Given the description of an element on the screen output the (x, y) to click on. 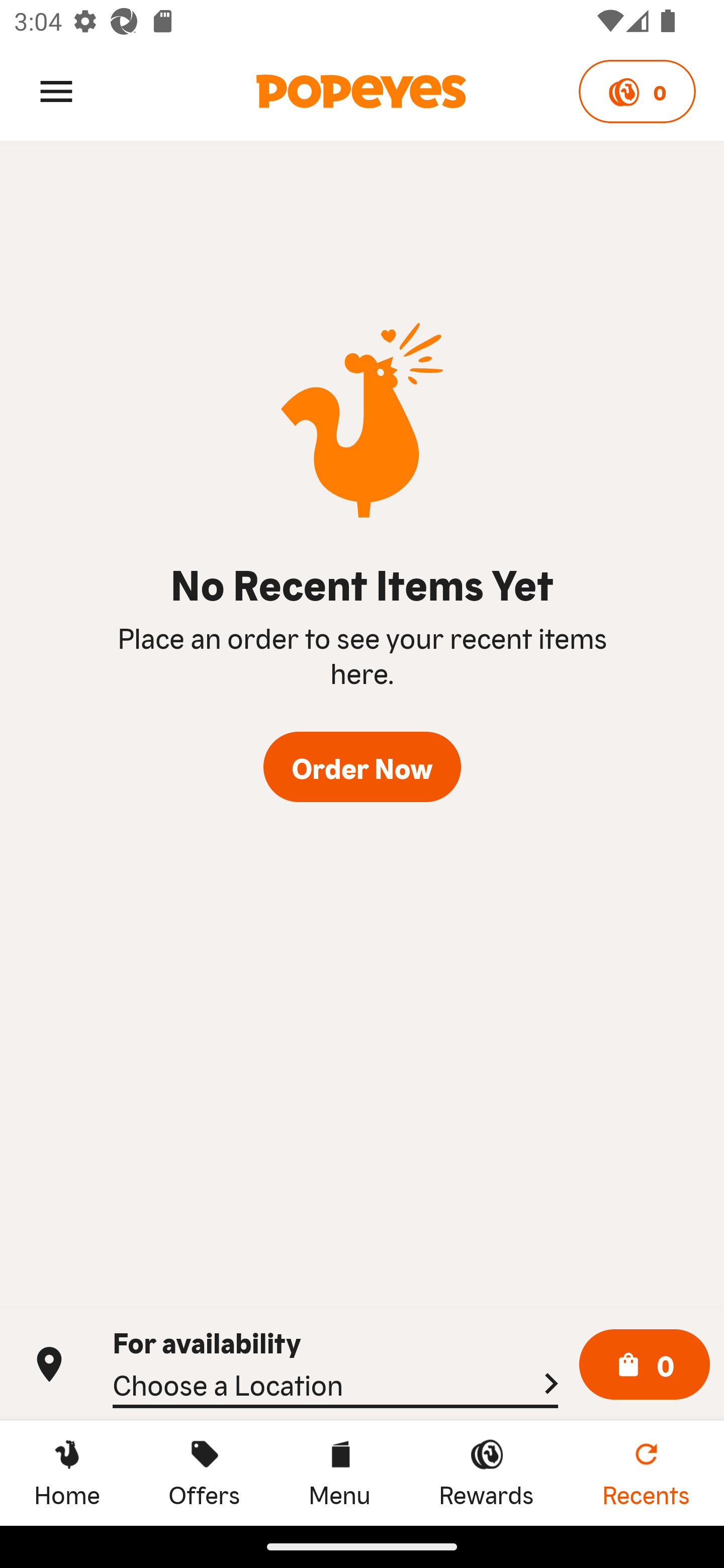
Menu  (56, 90)
0 Points 0 (636, 91)
Order Now (362, 767)
0 Cart total  0 (644, 1364)
Home Home Home (66, 1472)
Offers Offers Offers (203, 1472)
Menu Menu Menu (339, 1472)
Rewards Rewards Rewards (486, 1472)
